Given the description of an element on the screen output the (x, y) to click on. 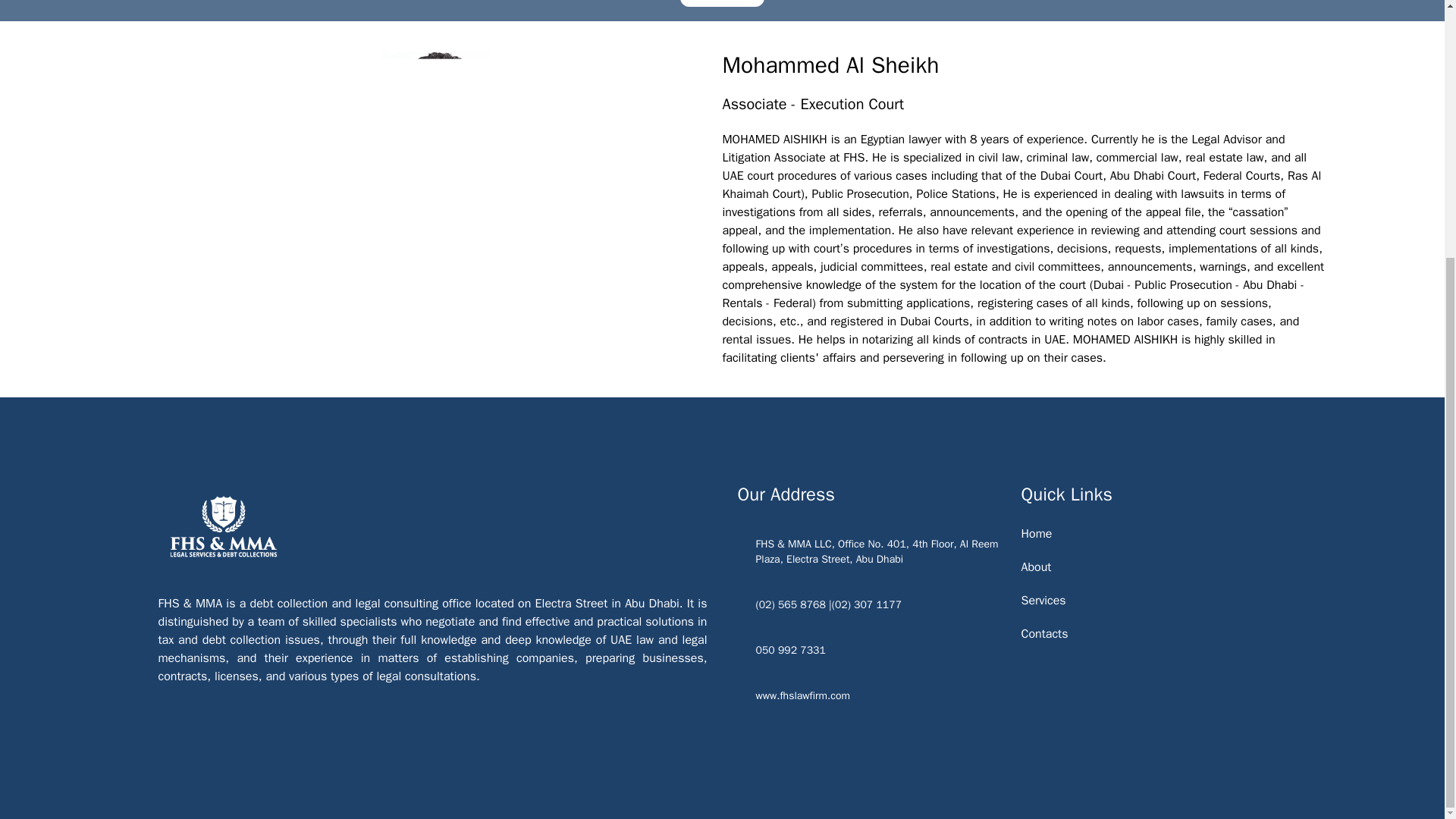
www.fhslawfirm.com (869, 695)
Home (1035, 533)
Services (1042, 600)
About (1035, 566)
050 992 7331 (869, 650)
CONTACT US (721, 3)
Contacts (1043, 633)
